Given the description of an element on the screen output the (x, y) to click on. 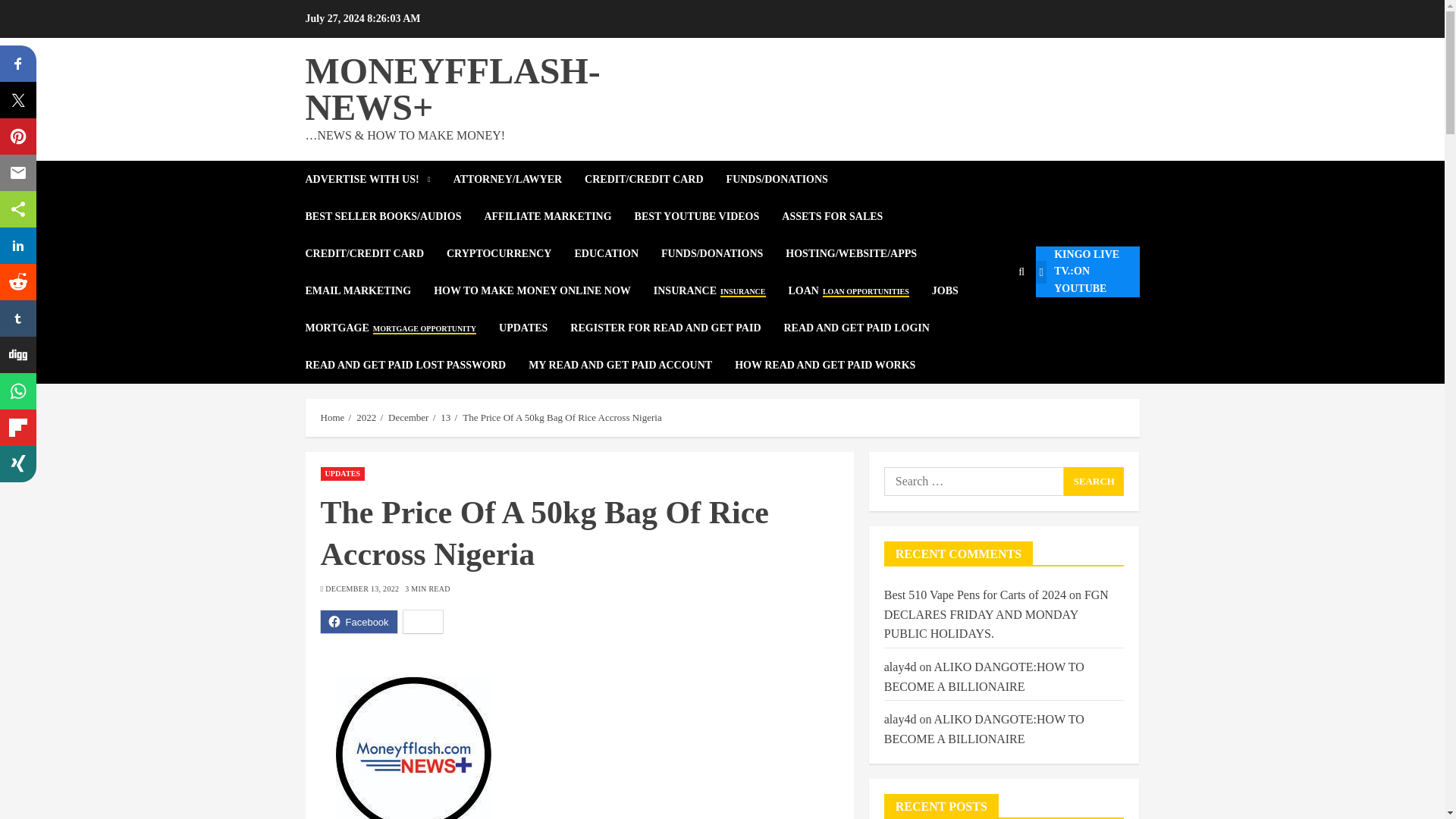
ASSETS FOR SALES (843, 216)
Search (988, 317)
HOW READ AND GET PAID WORKS (825, 365)
Click to share on Facebook (358, 621)
REGISTER FOR READ AND GET PAID (676, 327)
EDUCATION (617, 253)
Home (331, 417)
KINGO LIVE TV.:ON YOUTUBE (1086, 271)
MY READ AND GET PAID ACCOUNT (631, 365)
December (408, 417)
EMAIL MARKETING (368, 290)
CRYPTOCURRENCY (509, 253)
INSURANCEINSURANCE (721, 290)
ADVERTISE WITH US! (378, 179)
LOANLOAN OPPORTUNITIES (860, 290)
